Given the description of an element on the screen output the (x, y) to click on. 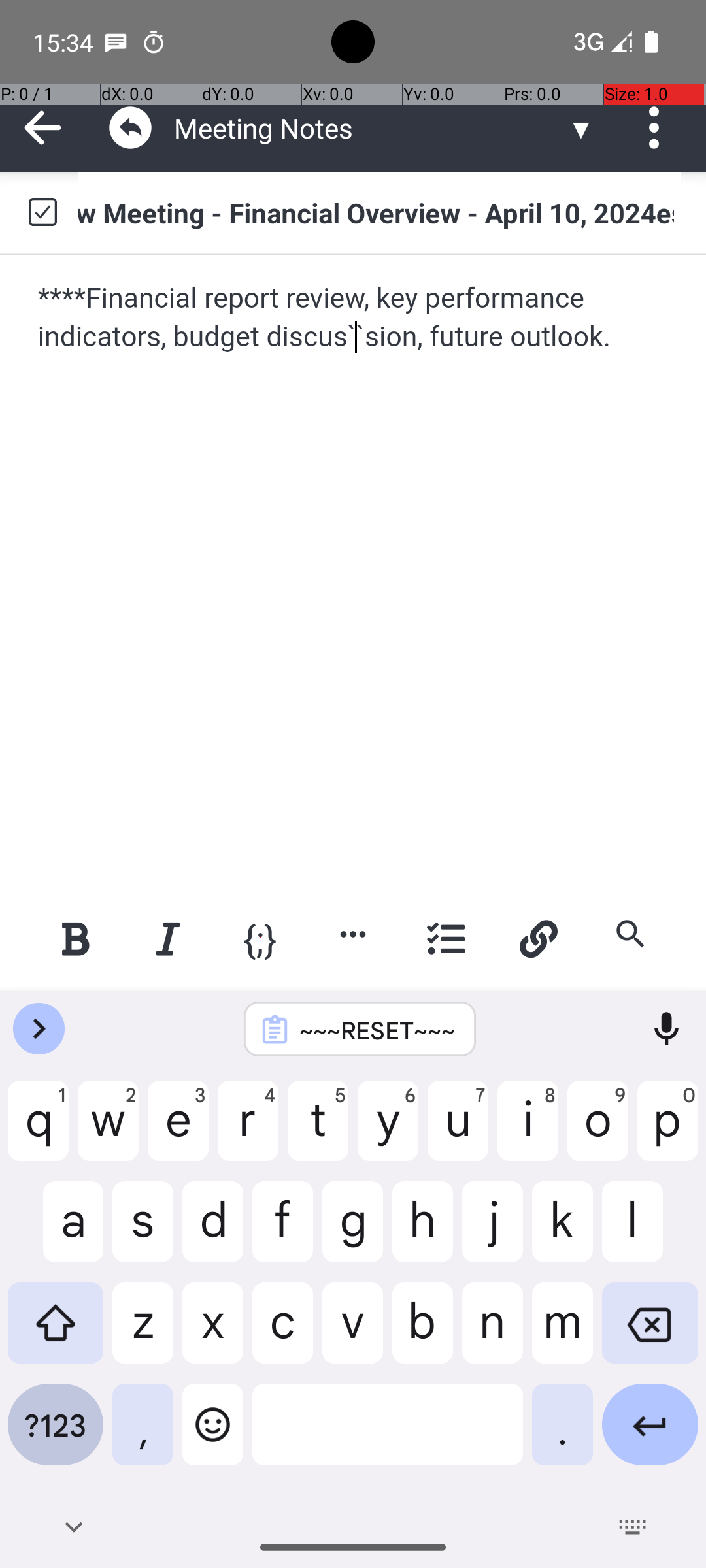
Board Meeting - Q1 Financial RQuarterly Review Meeting - Financial Overview - April 10, 2024esults - March 28, 2024 Element type: android.widget.EditText (378, 212)
****Financial report review, key performance indicators, budget discus``sion, future outlook. Element type: android.widget.EditText (354, 317)
